Given the description of an element on the screen output the (x, y) to click on. 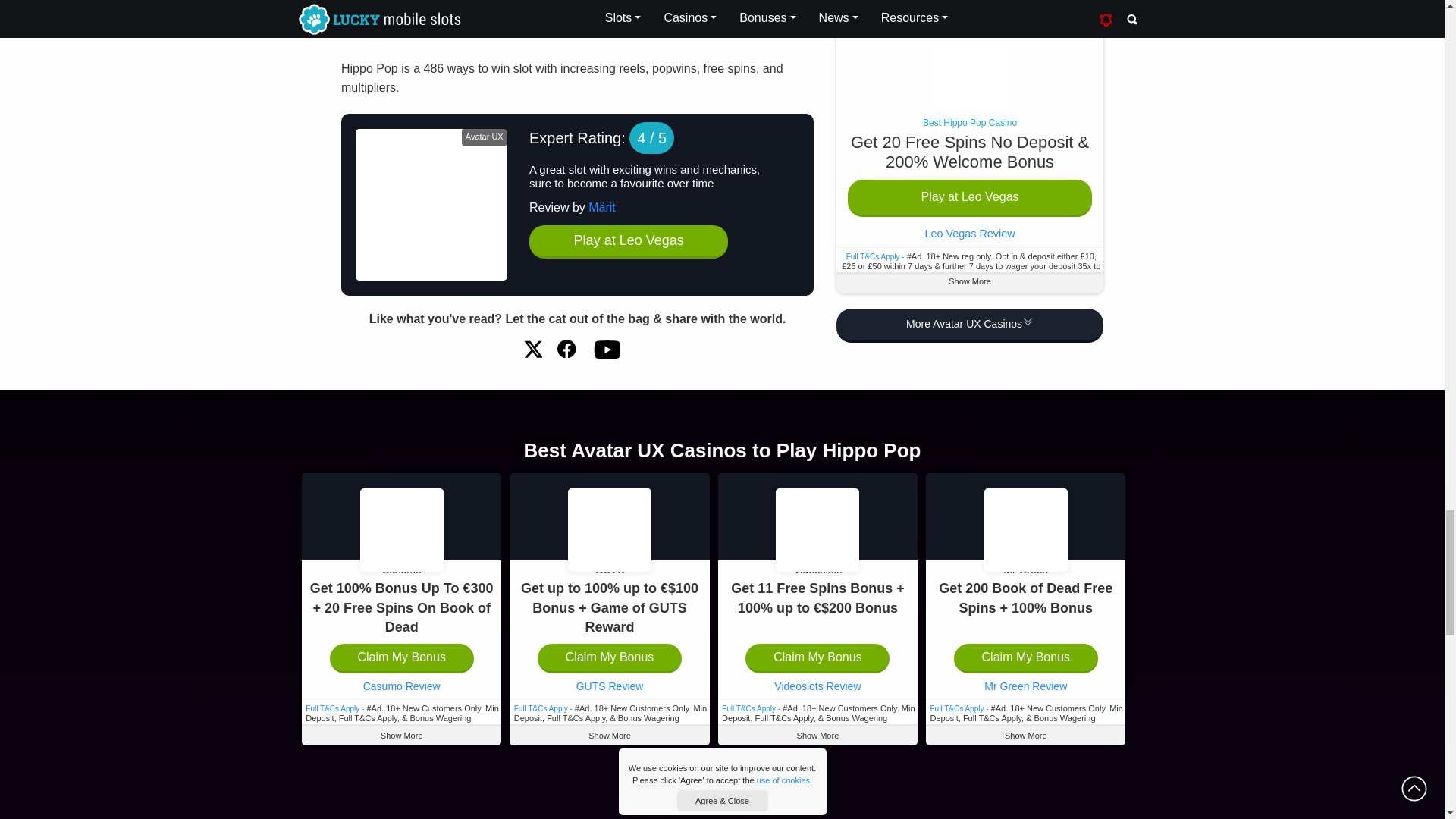
More Avatar UX Casinos (969, 92)
LMS Slot Videos (606, 348)
Tweet it Feline Friend! (531, 349)
Share The Wealth (566, 349)
